Given the description of an element on the screen output the (x, y) to click on. 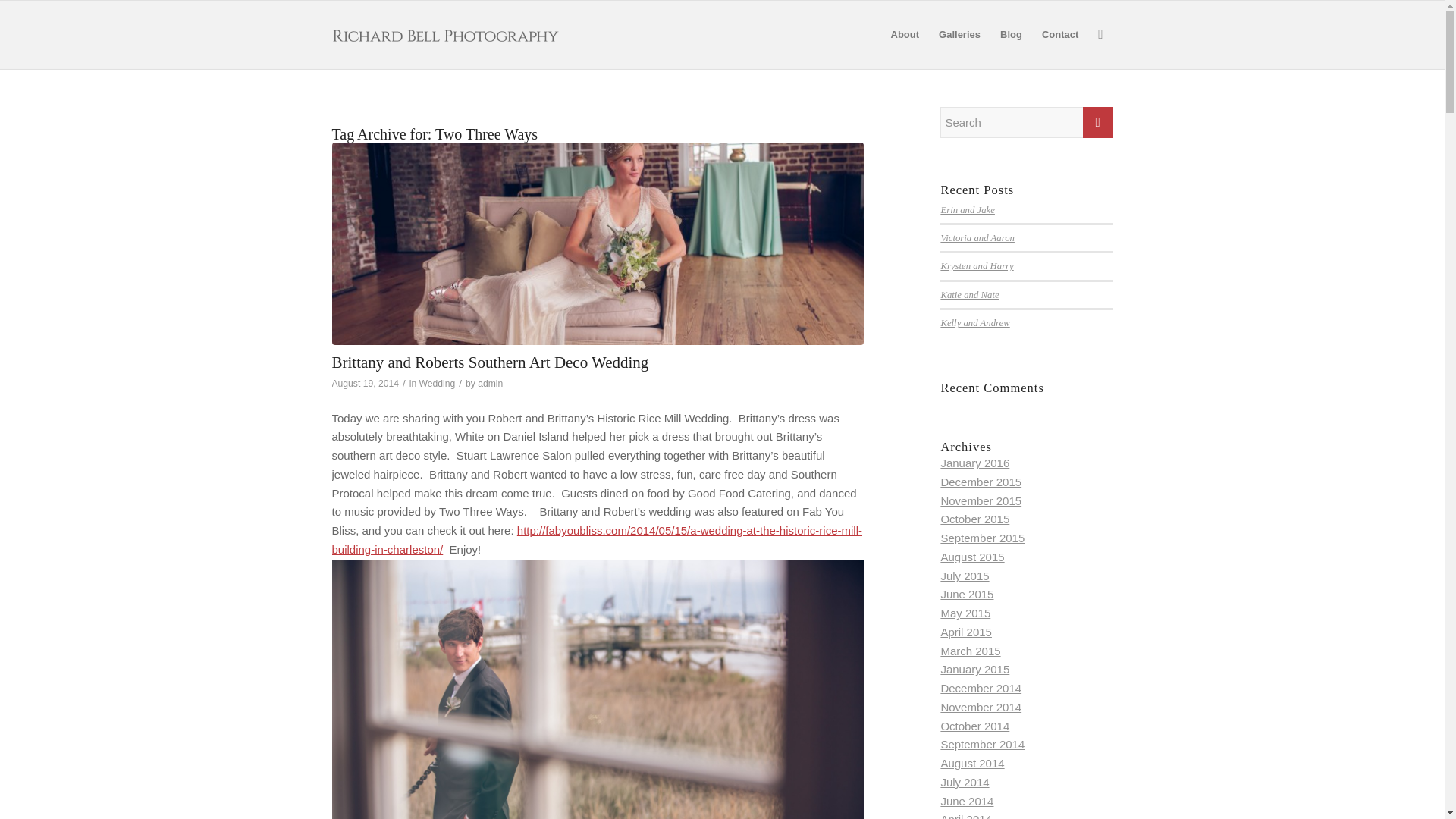
Galleries (959, 34)
schrader-0278 (597, 243)
Erin and Jake (967, 209)
Wedding (437, 383)
Posts by admin (489, 383)
Katie and Nate (969, 294)
Krysten and Harry (976, 266)
admin (489, 383)
Brittany and Roberts Southern Art Deco Wedding (490, 361)
Kelly and Andrew (974, 322)
Victoria and Aaron (977, 237)
